Given the description of an element on the screen output the (x, y) to click on. 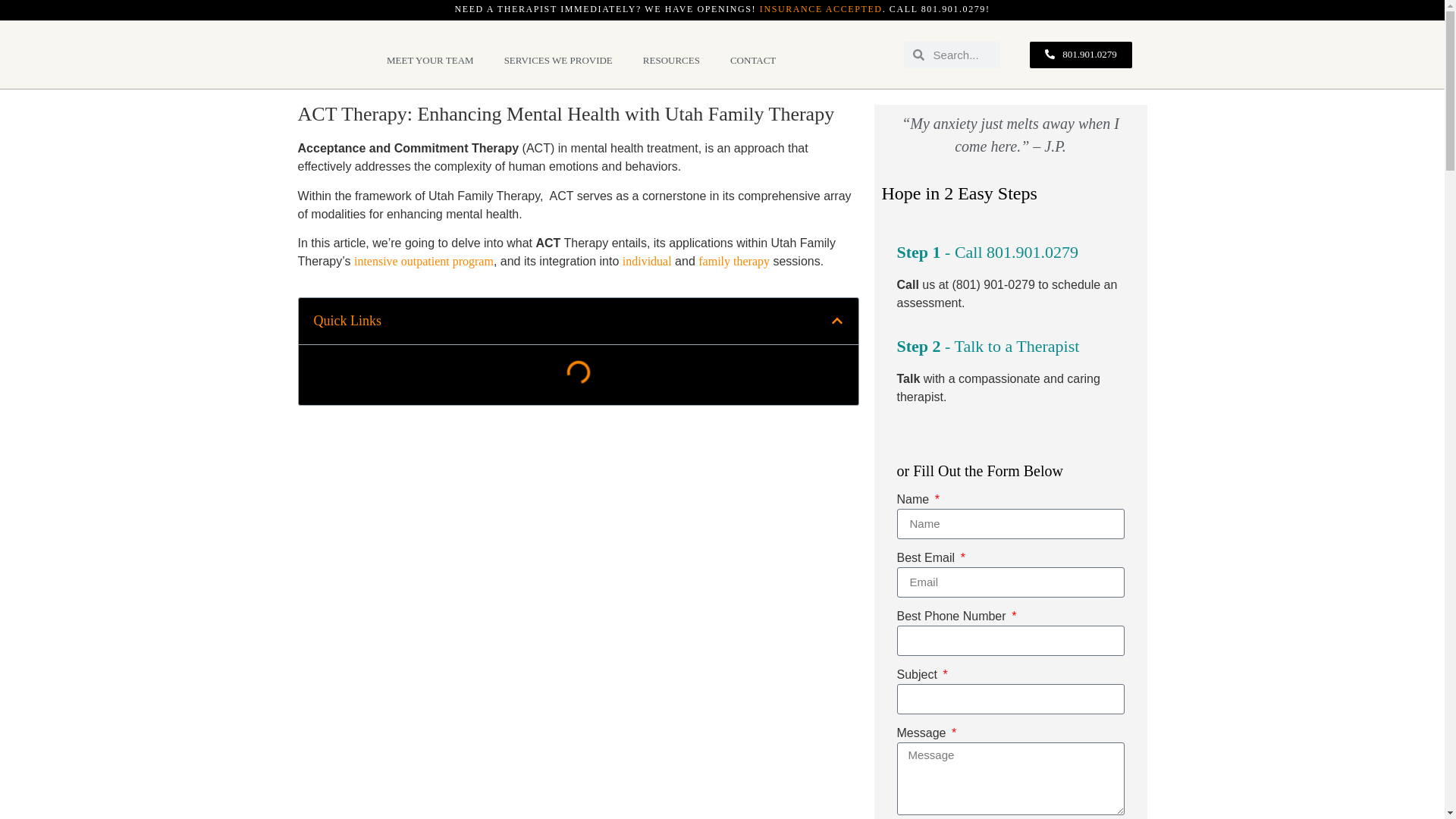
counseling services (558, 60)
SERVICES WE PROVIDE (558, 60)
RESOURCES (670, 60)
MEET YOUR TEAM (430, 60)
INSURANCE ACCEPTED (821, 9)
801.901.0279 (953, 9)
